Given the description of an element on the screen output the (x, y) to click on. 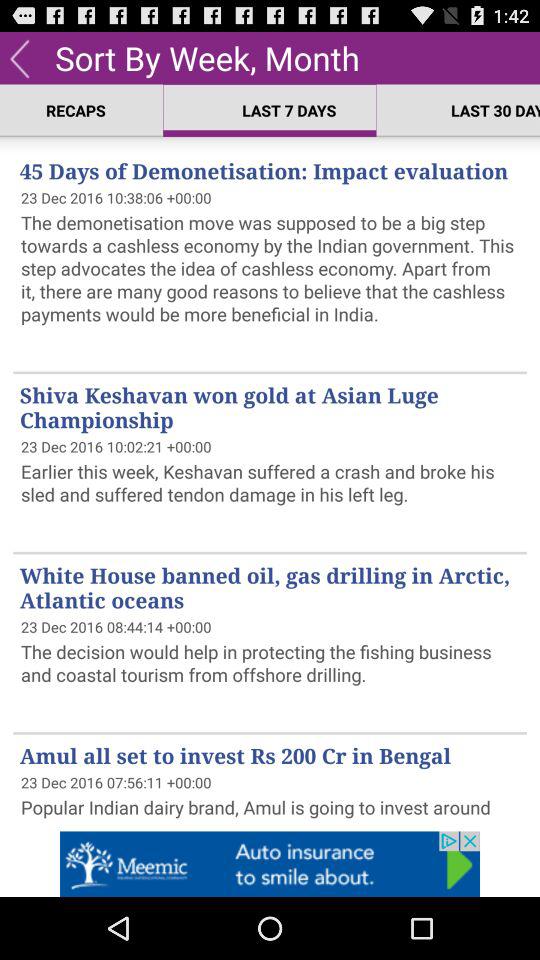
go back (19, 57)
